Given the description of an element on the screen output the (x, y) to click on. 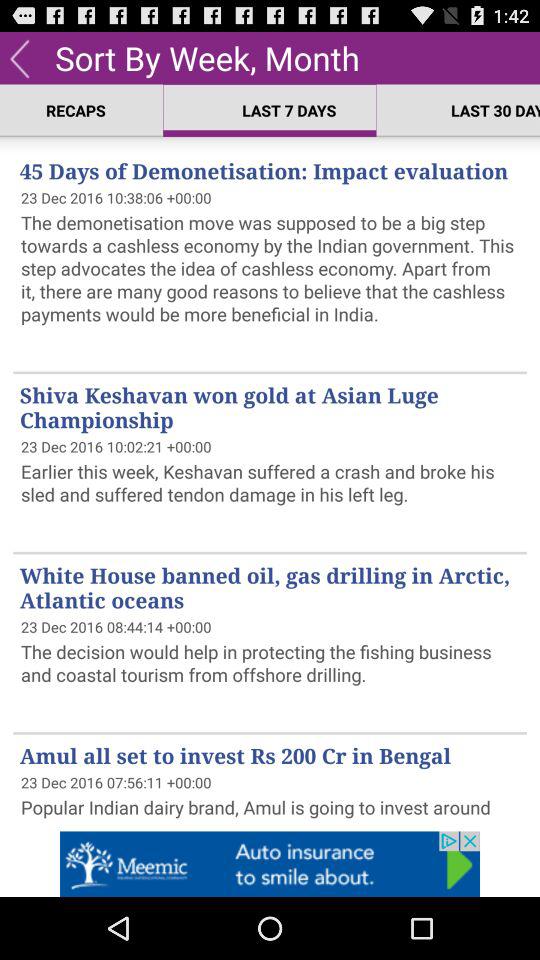
go back (19, 57)
